Given the description of an element on the screen output the (x, y) to click on. 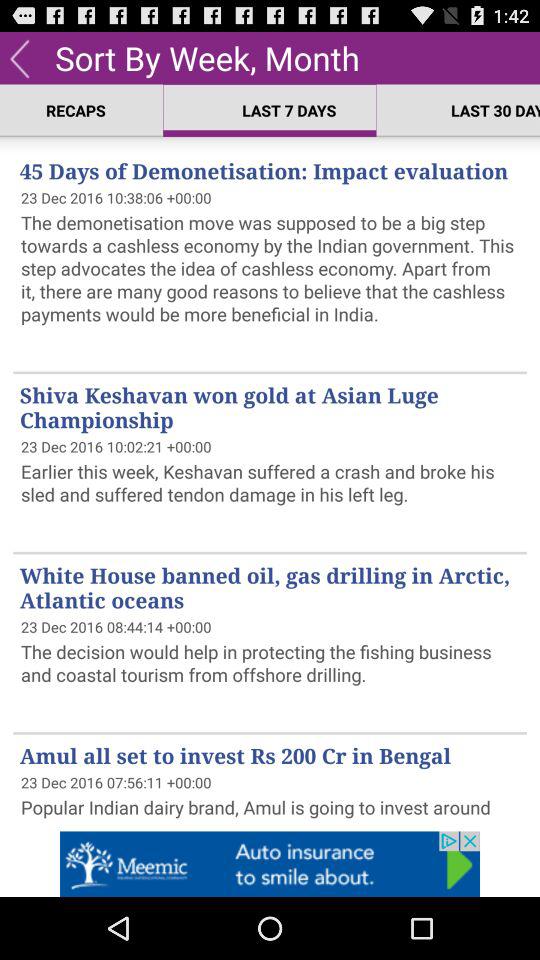
go back (19, 57)
